Given the description of an element on the screen output the (x, y) to click on. 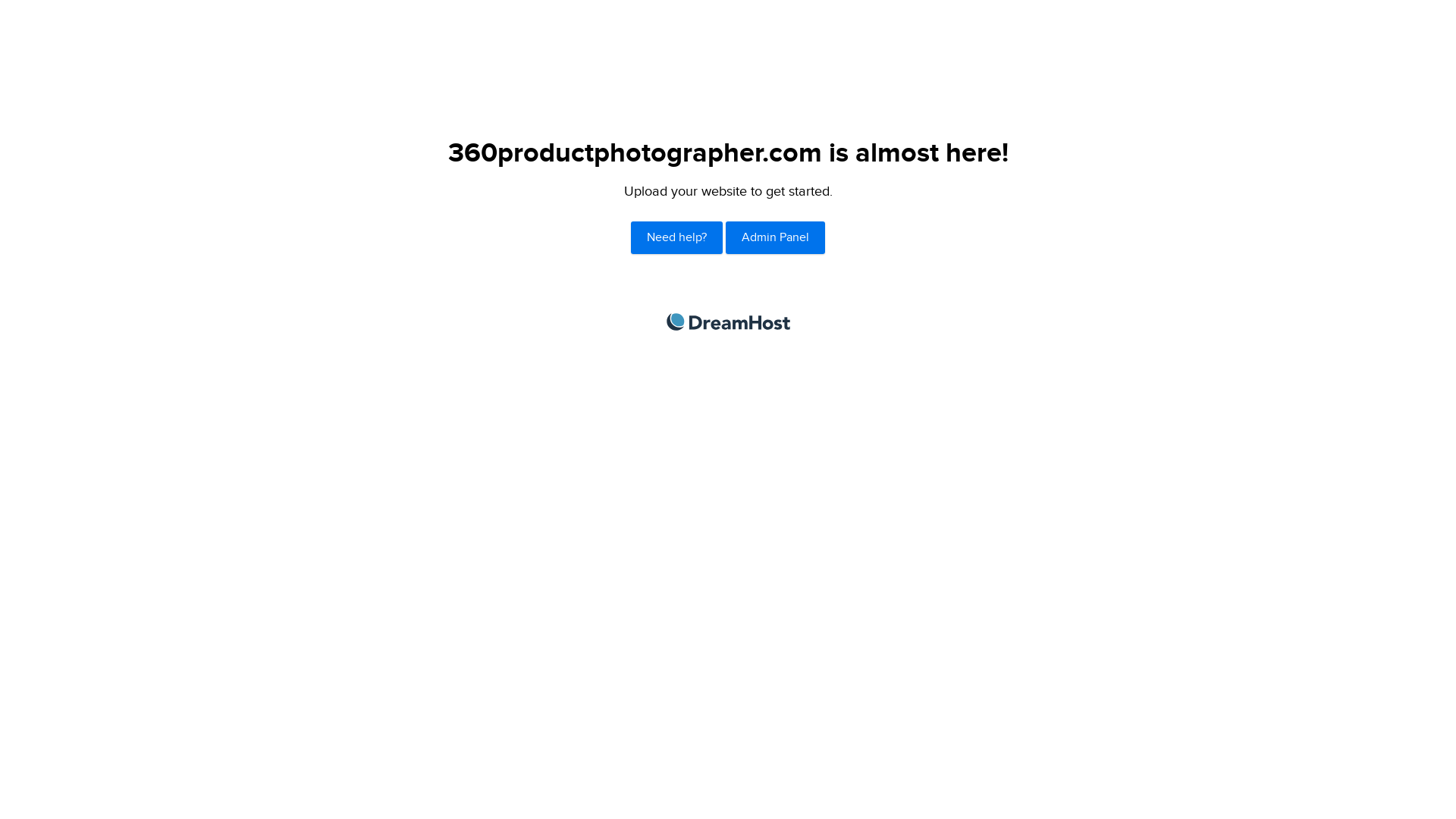
Need help? Element type: text (676, 237)
Admin Panel Element type: text (775, 237)
DreamHost Element type: text (727, 320)
